Given the description of an element on the screen output the (x, y) to click on. 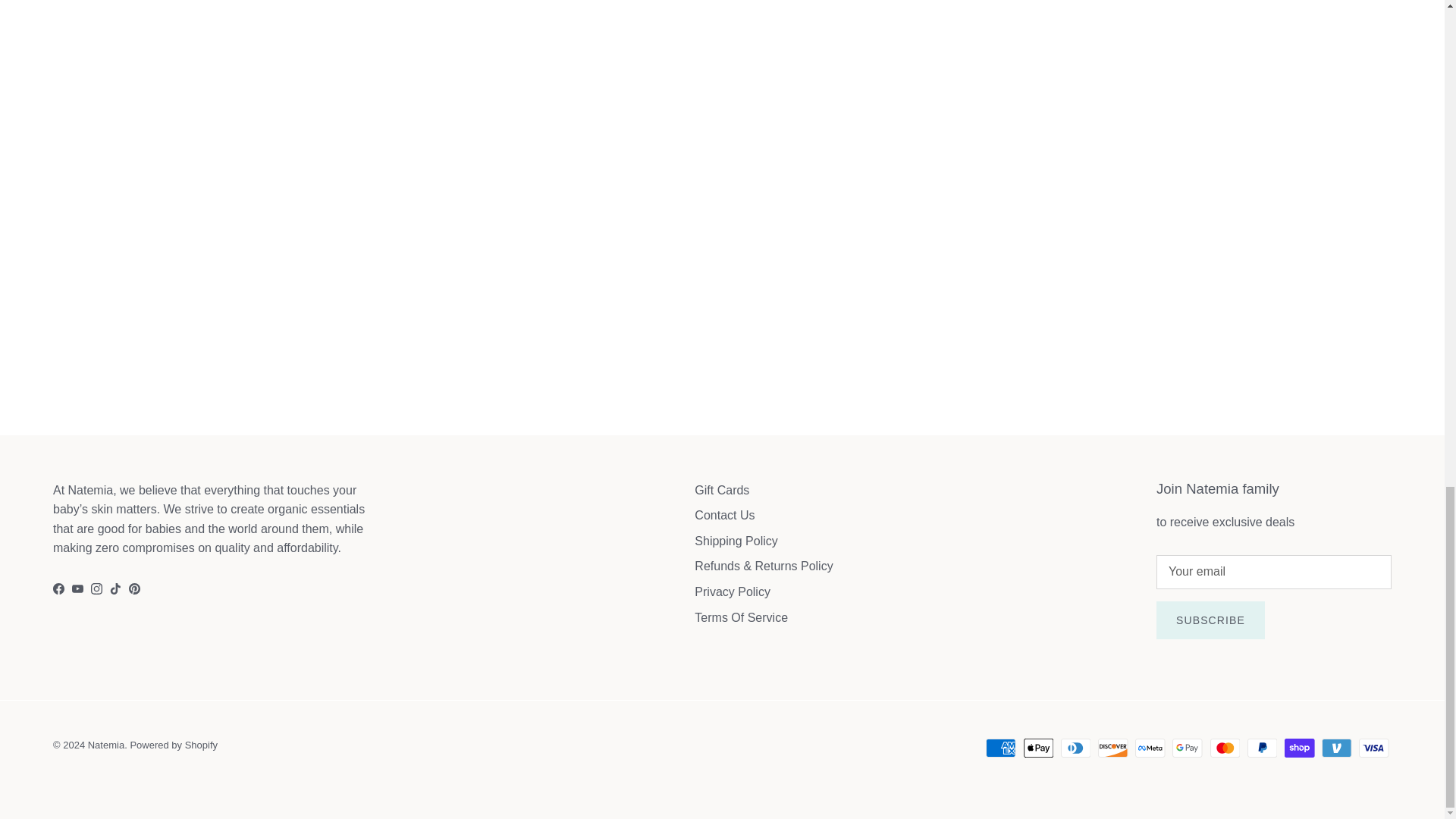
Shop Pay (1299, 747)
Natemia on Instagram (95, 588)
Mastercard (1224, 747)
American Express (1000, 747)
Venmo (1336, 747)
Natemia on TikTok (115, 588)
Google Pay (1187, 747)
PayPal (1261, 747)
Discover (1112, 747)
Visa (1373, 747)
